Given the description of an element on the screen output the (x, y) to click on. 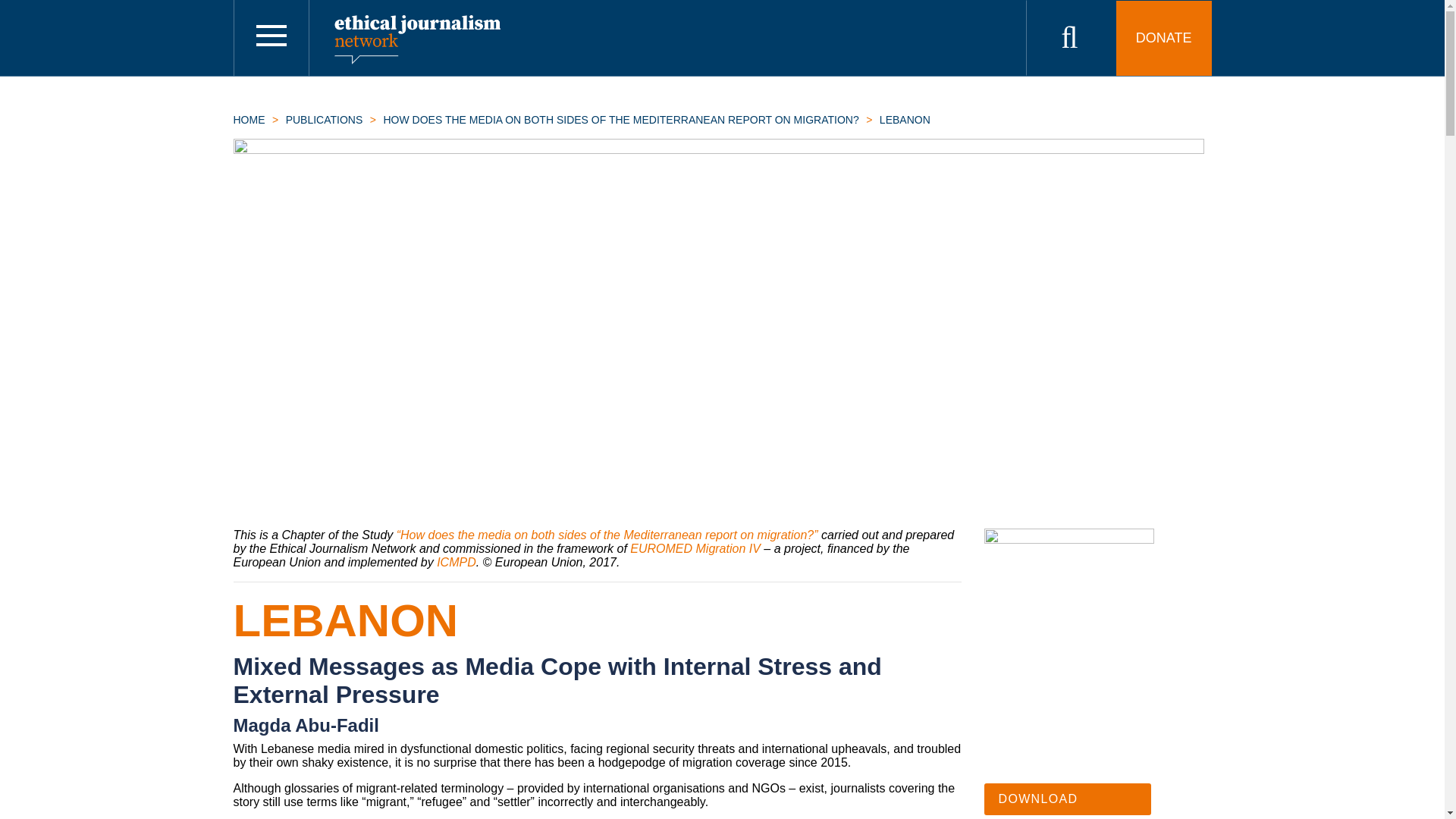
ICMPD (456, 562)
PUBLICATIONS (323, 119)
HOME (248, 119)
EUROMED Migration IV (695, 548)
DONATE (1163, 37)
